Given the description of an element on the screen output the (x, y) to click on. 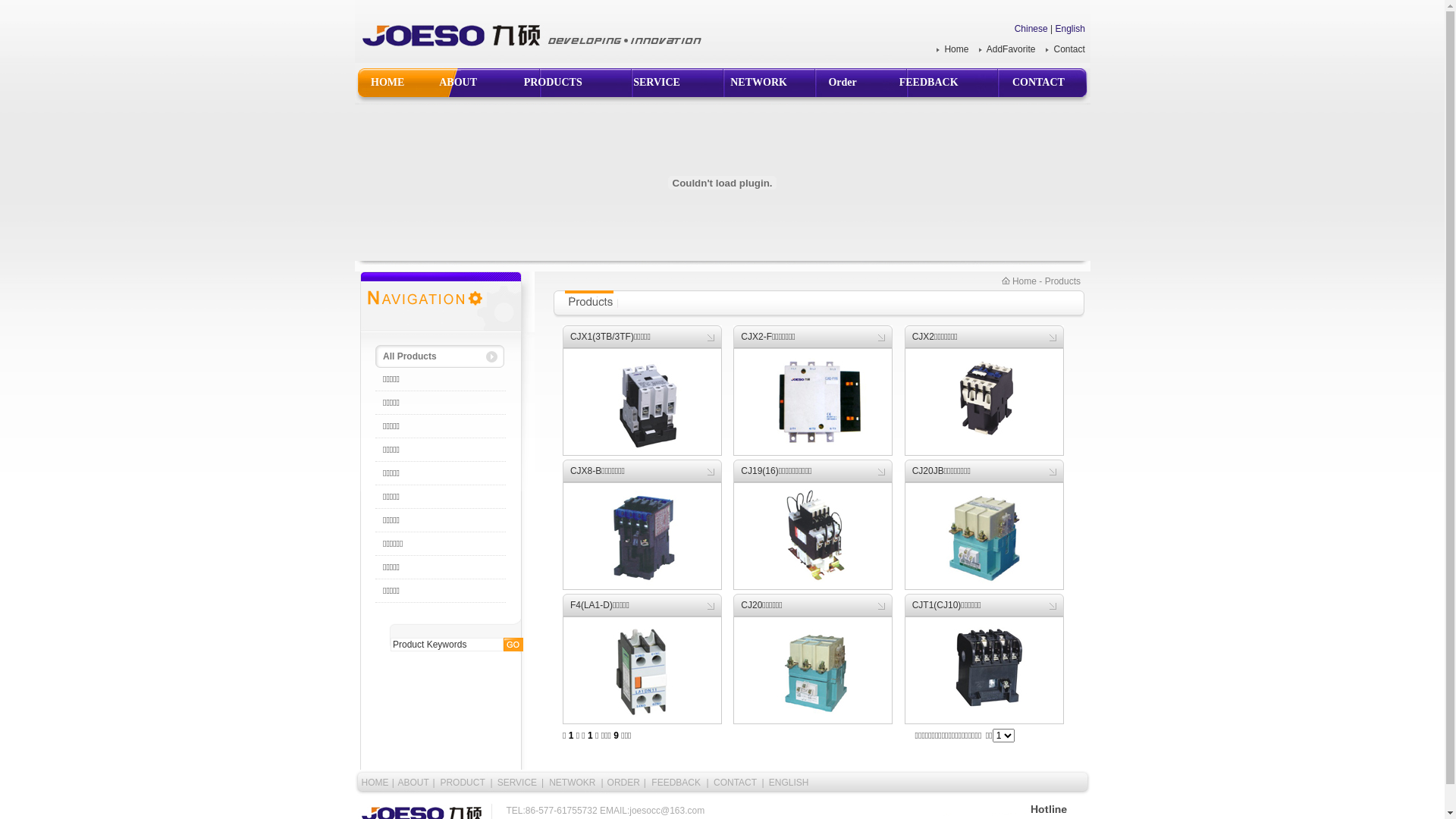
PRODUCT Element type: text (461, 782)
Home Element type: text (956, 48)
CONTACT Element type: text (1038, 77)
ENGLISH Element type: text (788, 782)
NETWOKR Element type: text (572, 782)
SERVICE Element type: text (656, 77)
Home Element type: text (1018, 281)
PRODUCTS Element type: text (553, 77)
NETWORK Element type: text (758, 77)
All Products Element type: text (440, 356)
Contact Element type: text (1068, 48)
English Element type: text (1069, 28)
HOME Element type: text (387, 77)
Chinese Element type: text (1031, 28)
SERVICE Element type: text (516, 782)
ABOUT Element type: text (457, 77)
FEEDBACK Element type: text (928, 77)
AddFavorite Element type: text (1010, 48)
CONTACT Element type: text (734, 782)
ABOUT Element type: text (413, 782)
Product Keywords Element type: text (446, 644)
Order Element type: text (842, 77)
ORDER Element type: text (623, 782)
FEEDBACK Element type: text (675, 782)
HOME Element type: text (375, 782)
